Given the description of an element on the screen output the (x, y) to click on. 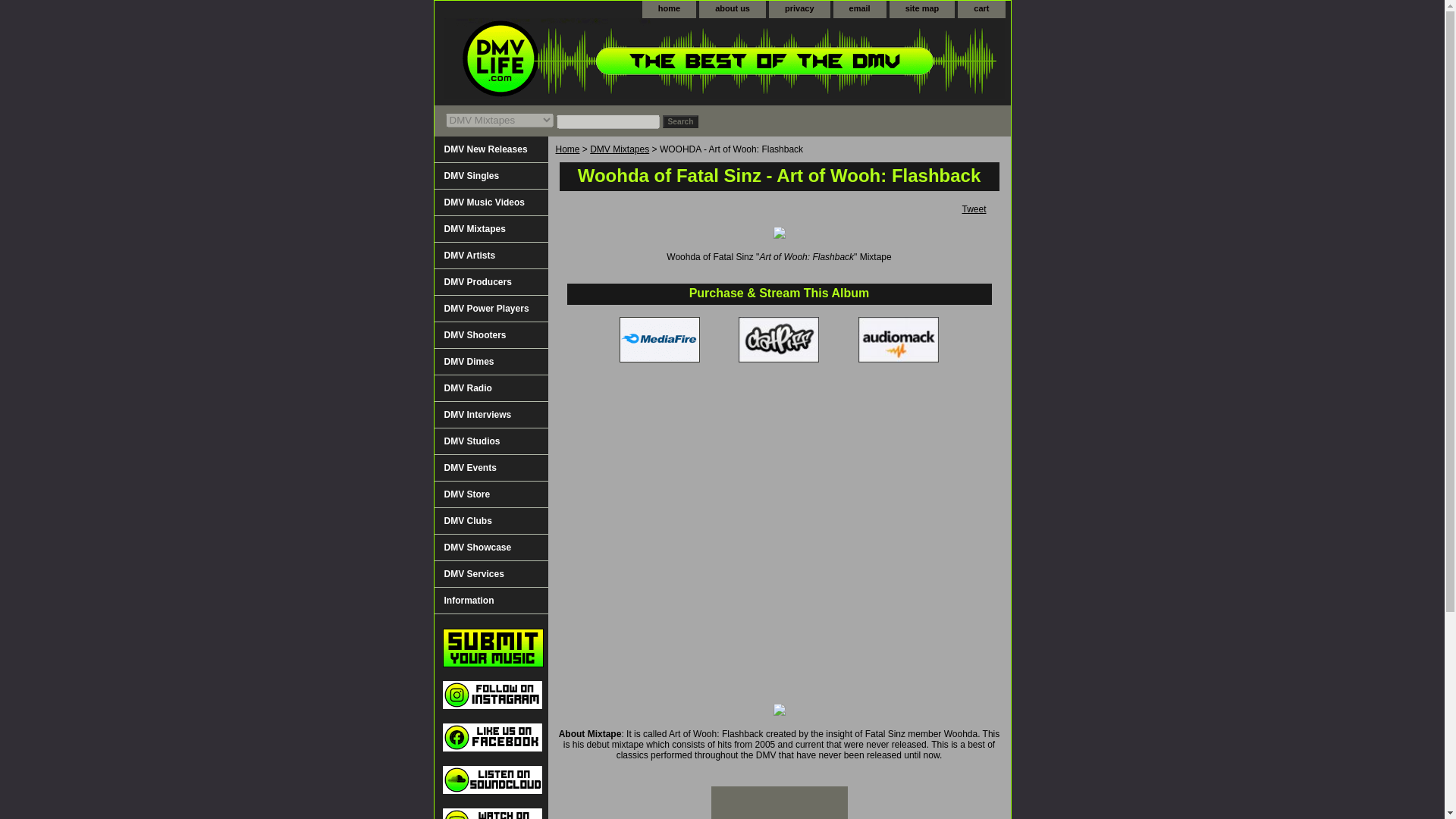
cart (981, 8)
DMV Producers (490, 282)
DMV Store (490, 494)
Home (566, 149)
email (859, 8)
DMV New Releases (490, 149)
DMV Clubs (490, 520)
Search (680, 121)
Search (680, 121)
DMV Radio (490, 388)
